Given the description of an element on the screen output the (x, y) to click on. 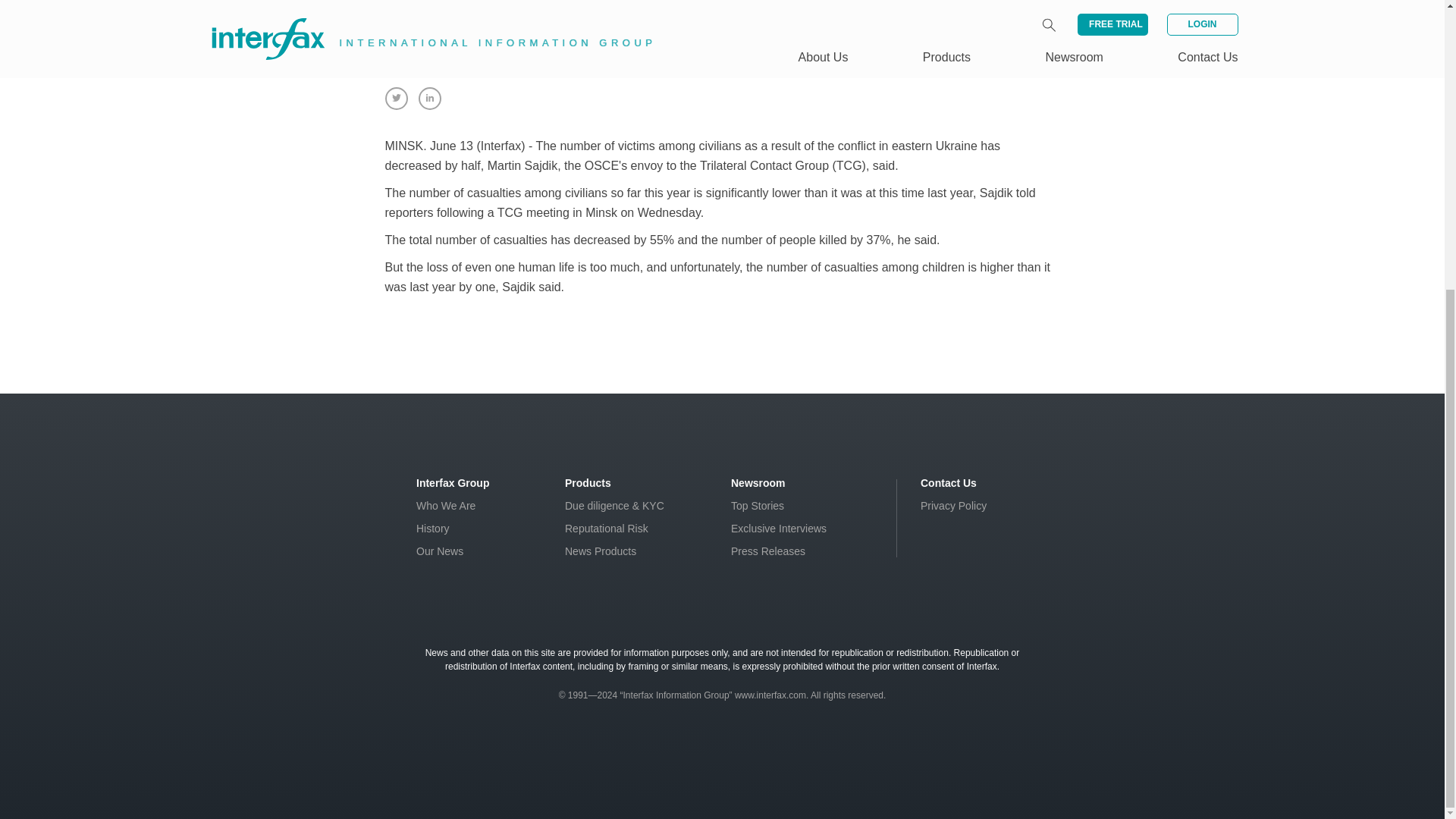
Interfax Group (452, 482)
History (432, 528)
Our News (439, 551)
Who We Are (446, 505)
